Given the description of an element on the screen output the (x, y) to click on. 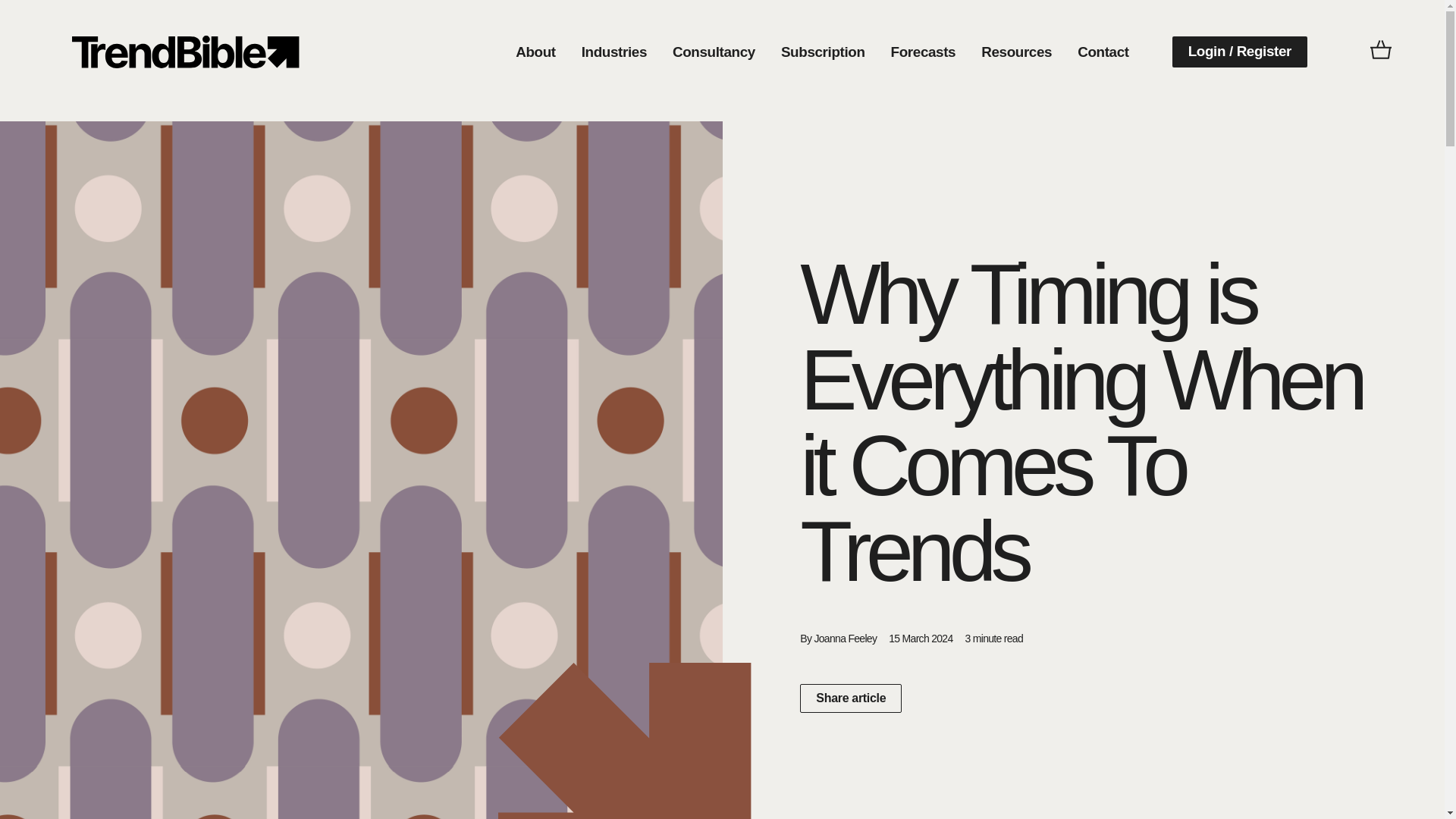
About (535, 52)
Contact (1102, 52)
Consultancy (713, 52)
Forecasts (923, 52)
Industries (614, 52)
Resources (1016, 52)
Subscription (822, 52)
My Account (185, 51)
Share article (850, 697)
